Given the description of an element on the screen output the (x, y) to click on. 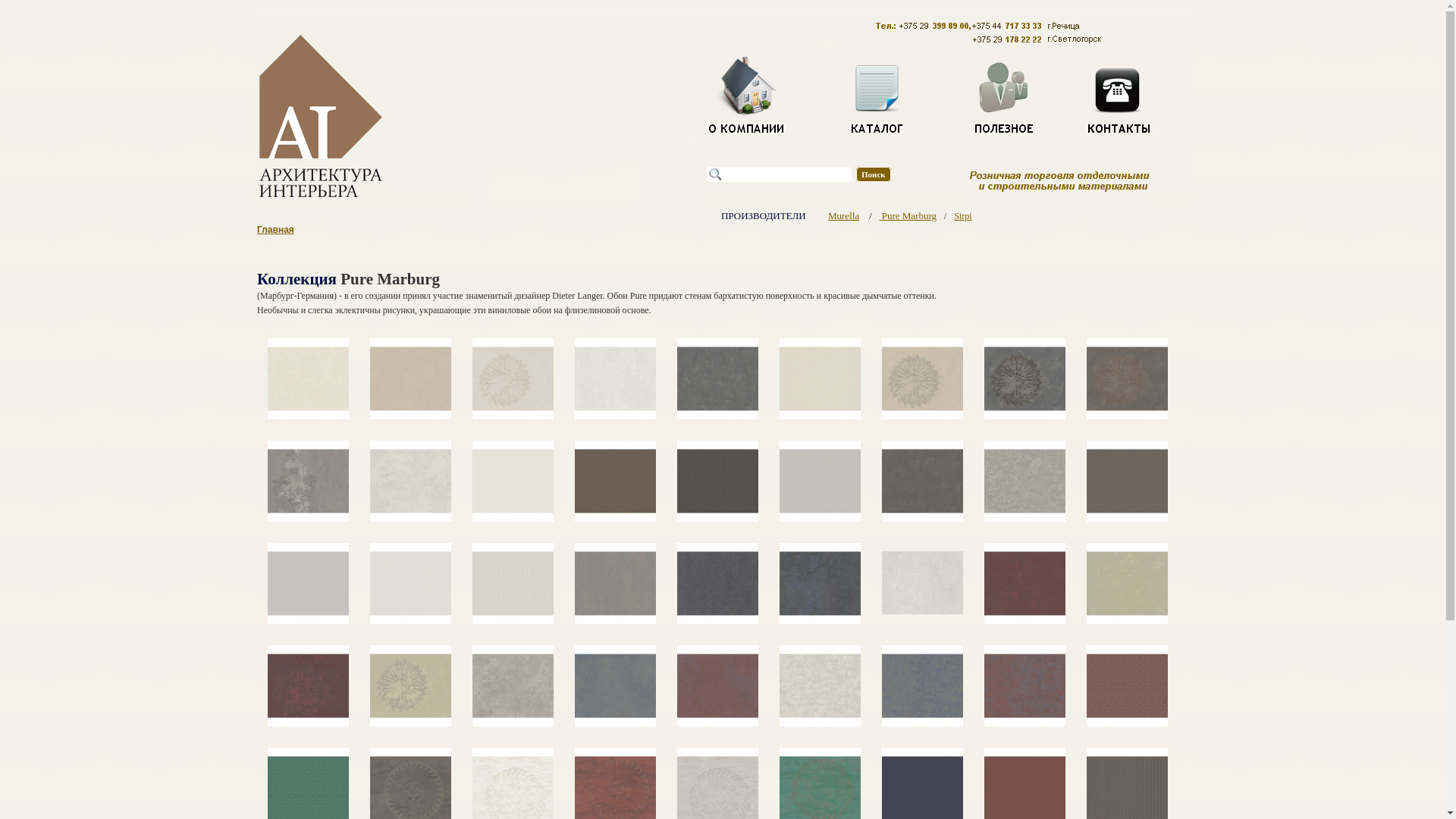
  Element type: text (879, 215)
Sirpi Element type: text (962, 215)
Murella Element type: text (843, 215)
Pure Marburg Element type: text (908, 215)
